Given the description of an element on the screen output the (x, y) to click on. 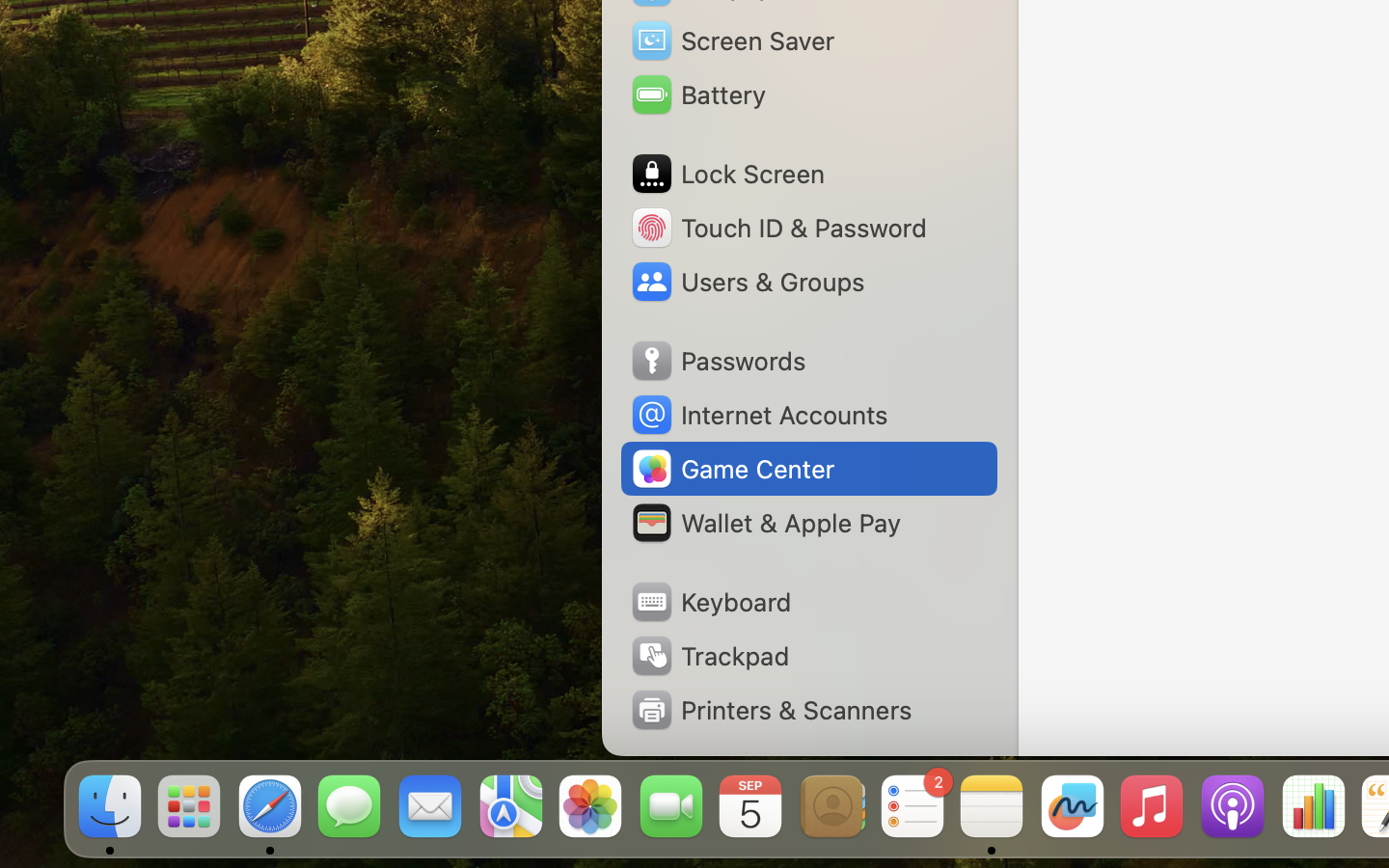
Battery Element type: AXStaticText (696, 94)
Trackpad Element type: AXStaticText (708, 655)
